Given the description of an element on the screen output the (x, y) to click on. 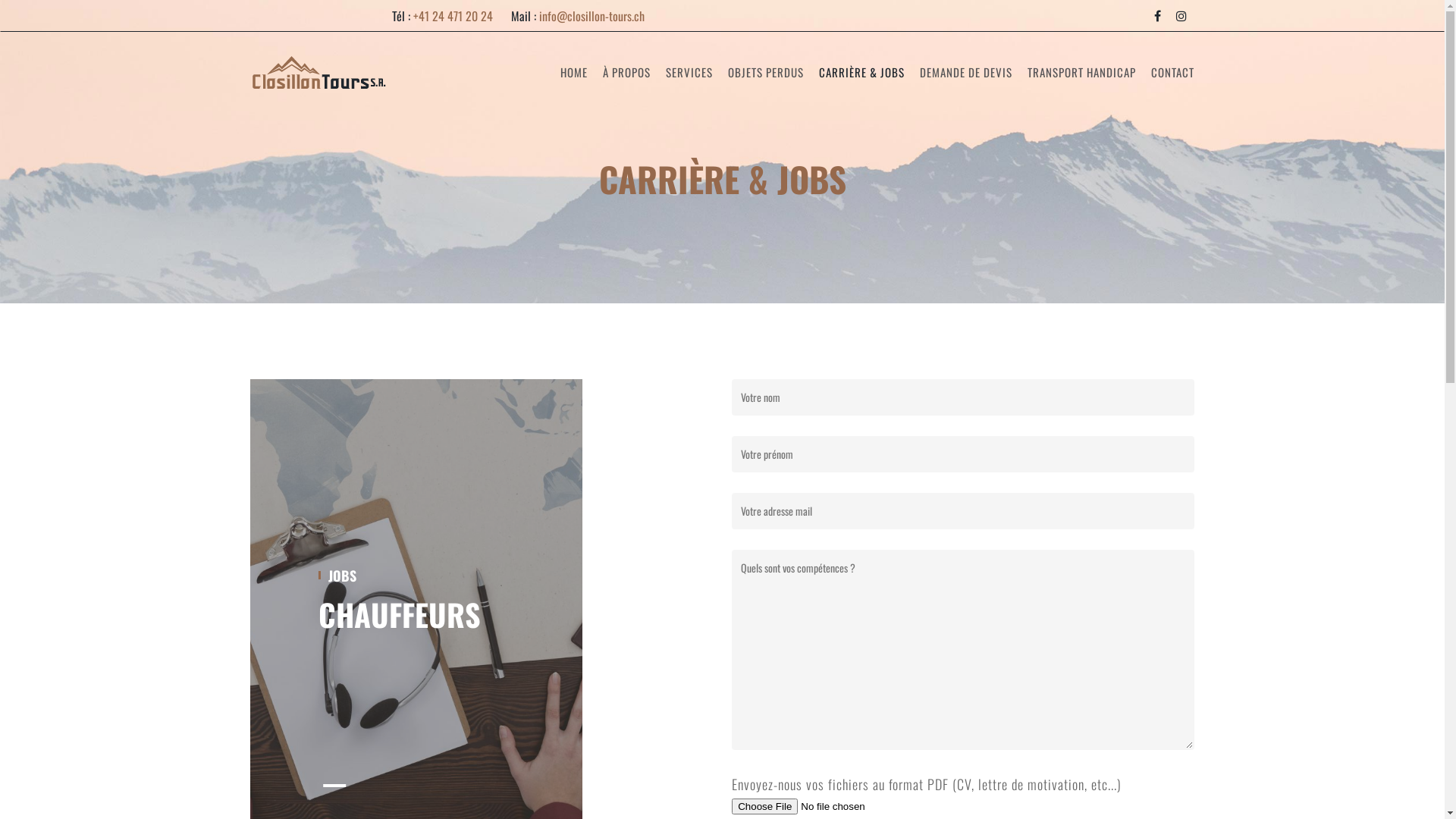
+41 24 471 20 24 Element type: text (452, 15)
SERVICES Element type: text (689, 71)
HOME Element type: text (573, 71)
TRANSPORT HANDICAP Element type: text (1081, 71)
info@closillon-tours.ch Element type: text (591, 15)
facebook Element type: text (1157, 15)
CONTACT Element type: text (1168, 71)
instagram Element type: text (1181, 15)
OBJETS PERDUS Element type: text (765, 71)
CHAUFFEURS Element type: text (399, 614)
JOBS Element type: text (341, 575)
DEMANDE DE DEVIS Element type: text (965, 71)
